Given the description of an element on the screen output the (x, y) to click on. 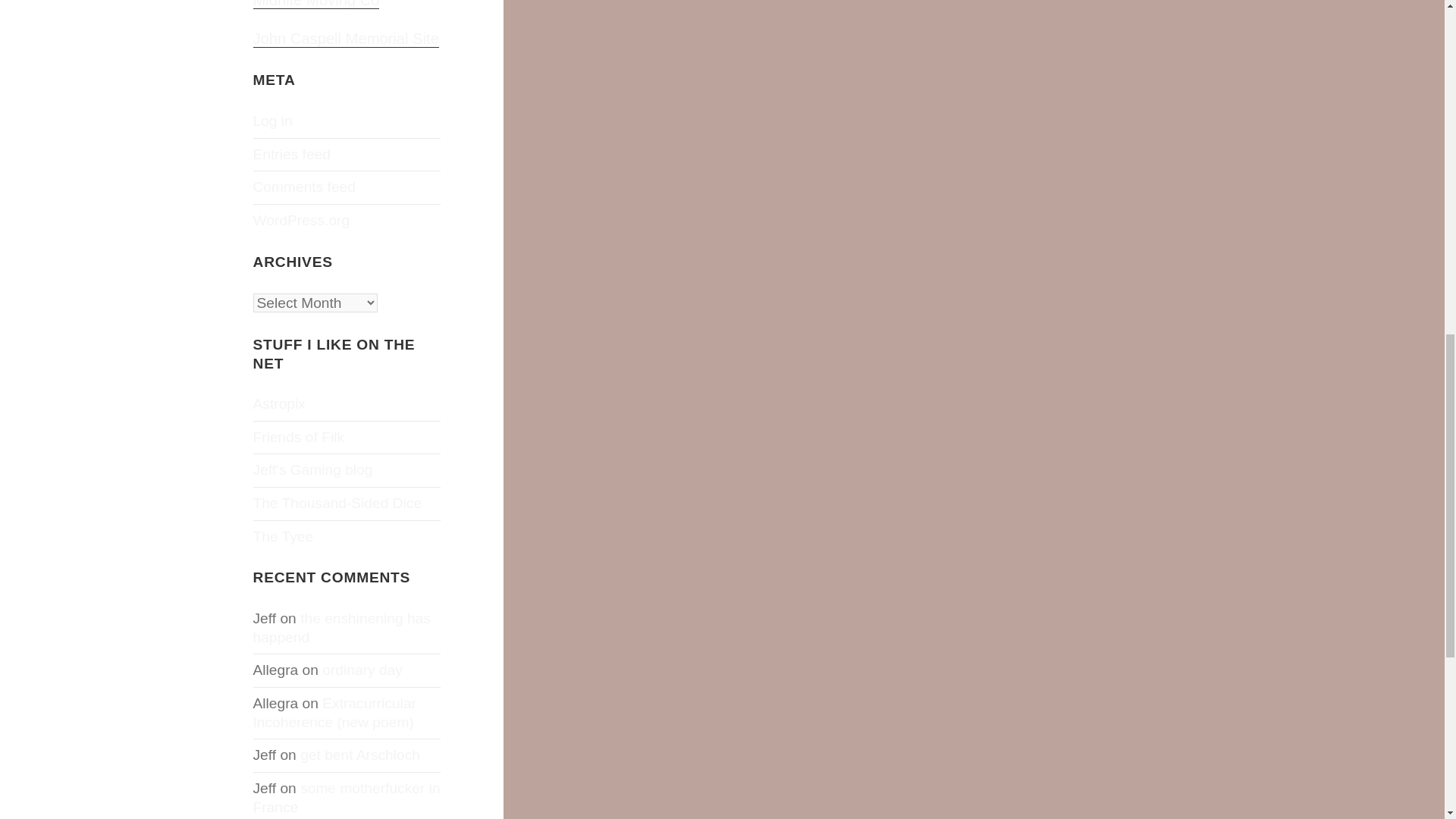
Log in (272, 120)
the enshinening has happend (341, 627)
John Caspell Memorial Site (346, 39)
Friends of Filk (298, 437)
Jeff's Gaming blog (312, 469)
The Tyee (283, 536)
some motherfucker in France (347, 797)
Comments feed (304, 186)
get bent Arschloch (359, 754)
